Given the description of an element on the screen output the (x, y) to click on. 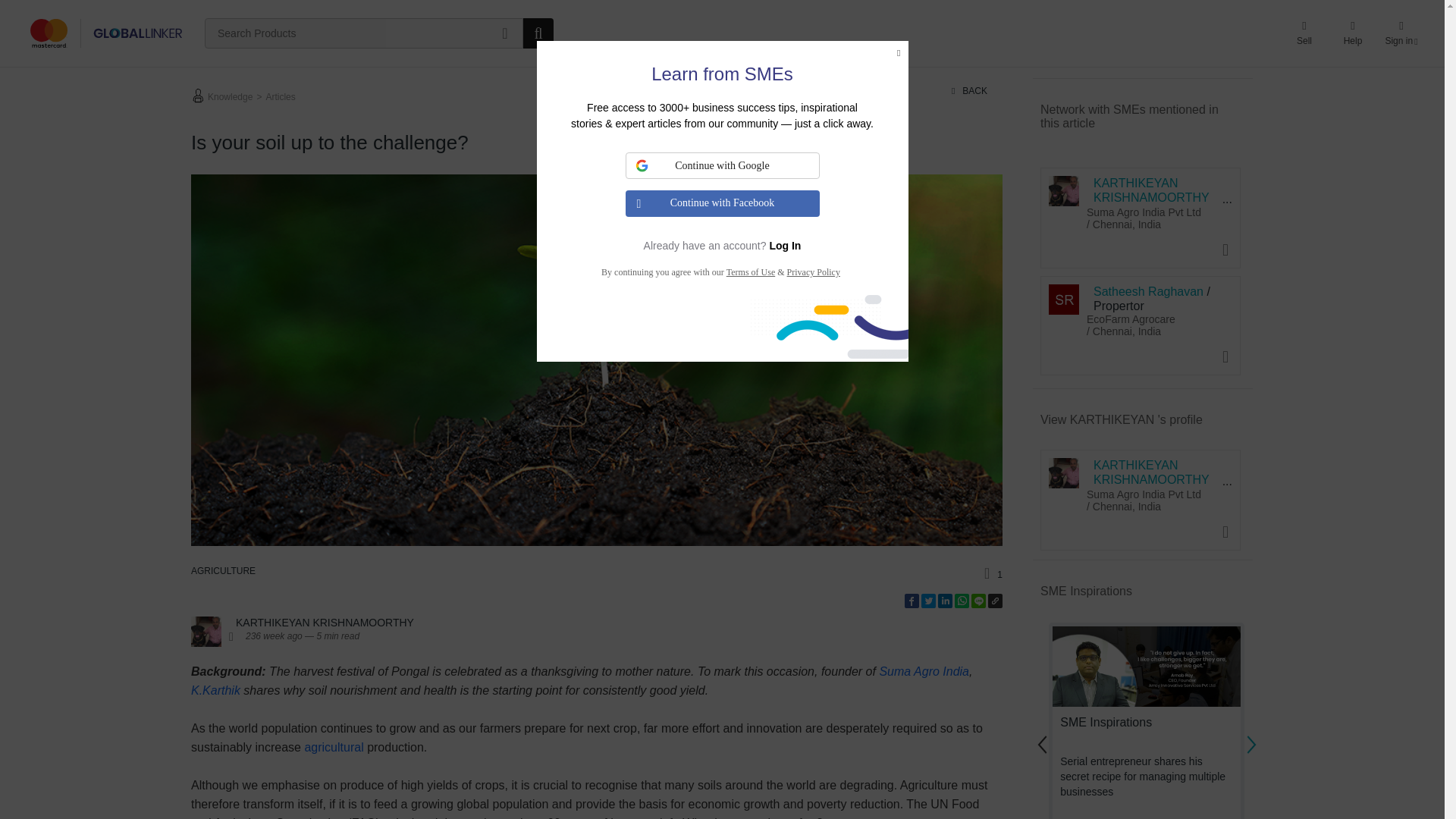
KARTHIKEYAN KRISHNAMOORTHY (324, 622)
Knowledge (227, 95)
Articles (278, 95)
KARTHIKEYAN KRISHNAMOORTHY (1063, 191)
  BACK (969, 90)
KARTHIKEYAN KRISHNAMOORTHY (1063, 472)
Globallinker (106, 32)
Sign in (1401, 33)
AGRICULTURE (223, 570)
Suma Agro India (924, 671)
KARTHIKEYAN KRISHNAMOORTHY (205, 631)
Sell (1303, 33)
Satheesh Raghavan (1063, 299)
Help (1352, 33)
